Given the description of an element on the screen output the (x, y) to click on. 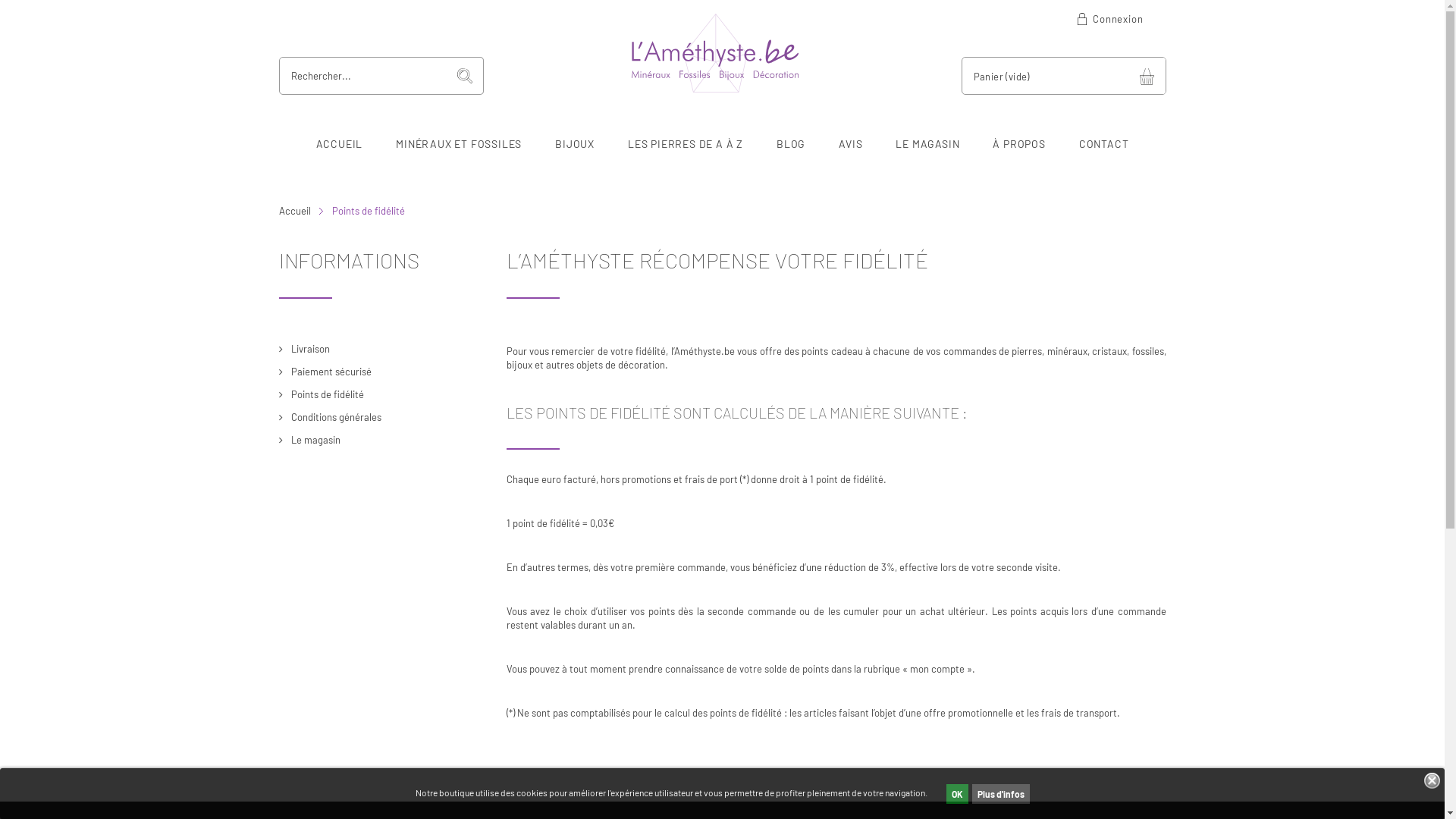
BLOG Element type: text (790, 143)
ACCUEIL Element type: text (339, 143)
Le magasin Element type: text (309, 439)
CONTACT Element type: text (1103, 143)
AVIS Element type: text (850, 143)
Livraison Element type: text (304, 348)
BIJOUX Element type: text (574, 143)
Connexion Element type: text (1108, 18)
LE MAGASIN Element type: text (926, 143)
Plus d'infos Element type: text (1000, 793)
Panier (vide) Element type: text (1063, 75)
Accueil Element type: text (304, 210)
